Given the description of an element on the screen output the (x, y) to click on. 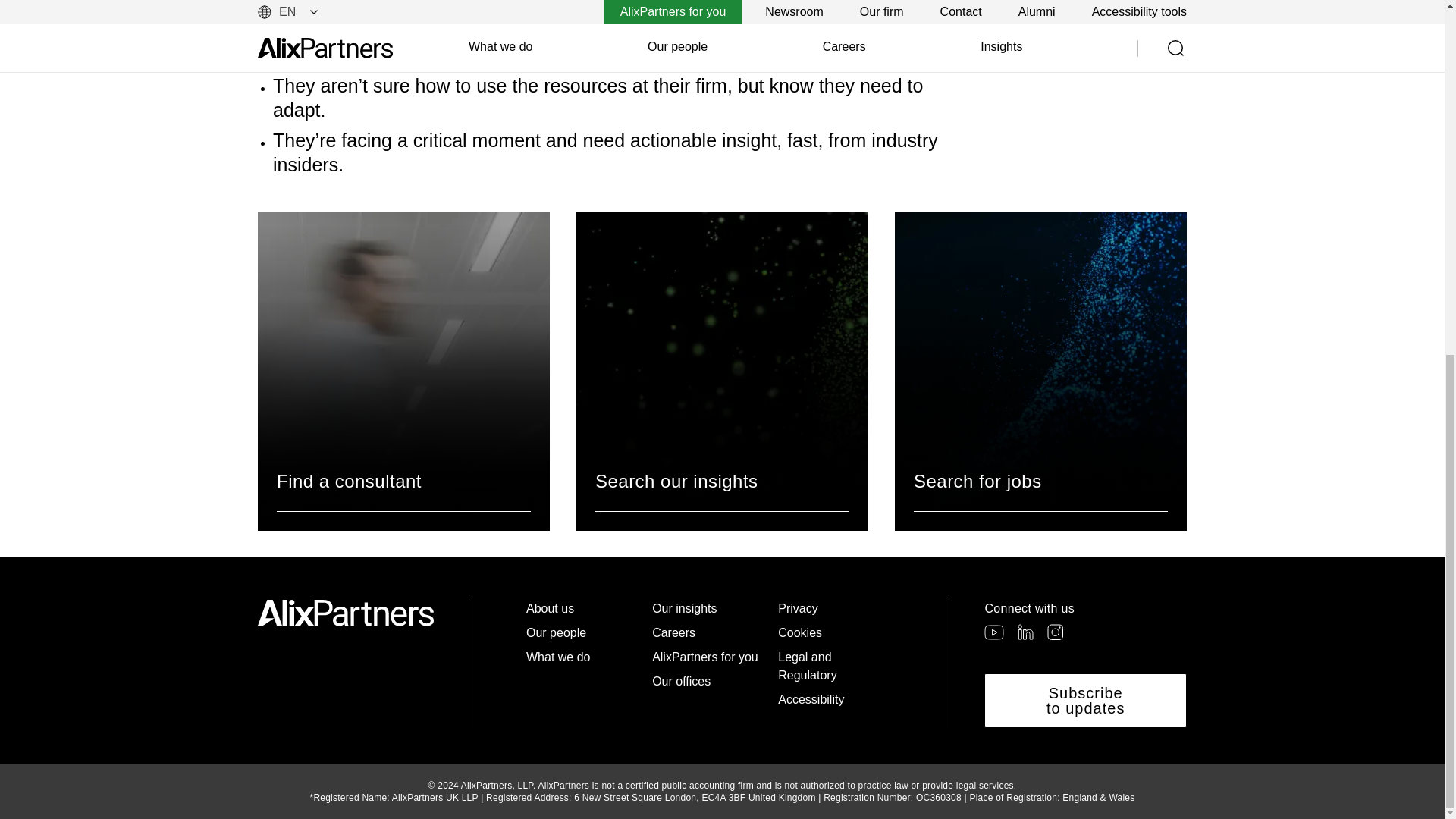
Privacy (834, 608)
Find a consultant (403, 371)
Search our insights (721, 371)
AlixPartners for you (708, 657)
Go to home page (345, 612)
What we do (582, 657)
Accessibility (834, 700)
Check out our Instagram fan page (1054, 631)
Check out our LinkedIn fan page (1025, 631)
Search our insights (721, 371)
